Given the description of an element on the screen output the (x, y) to click on. 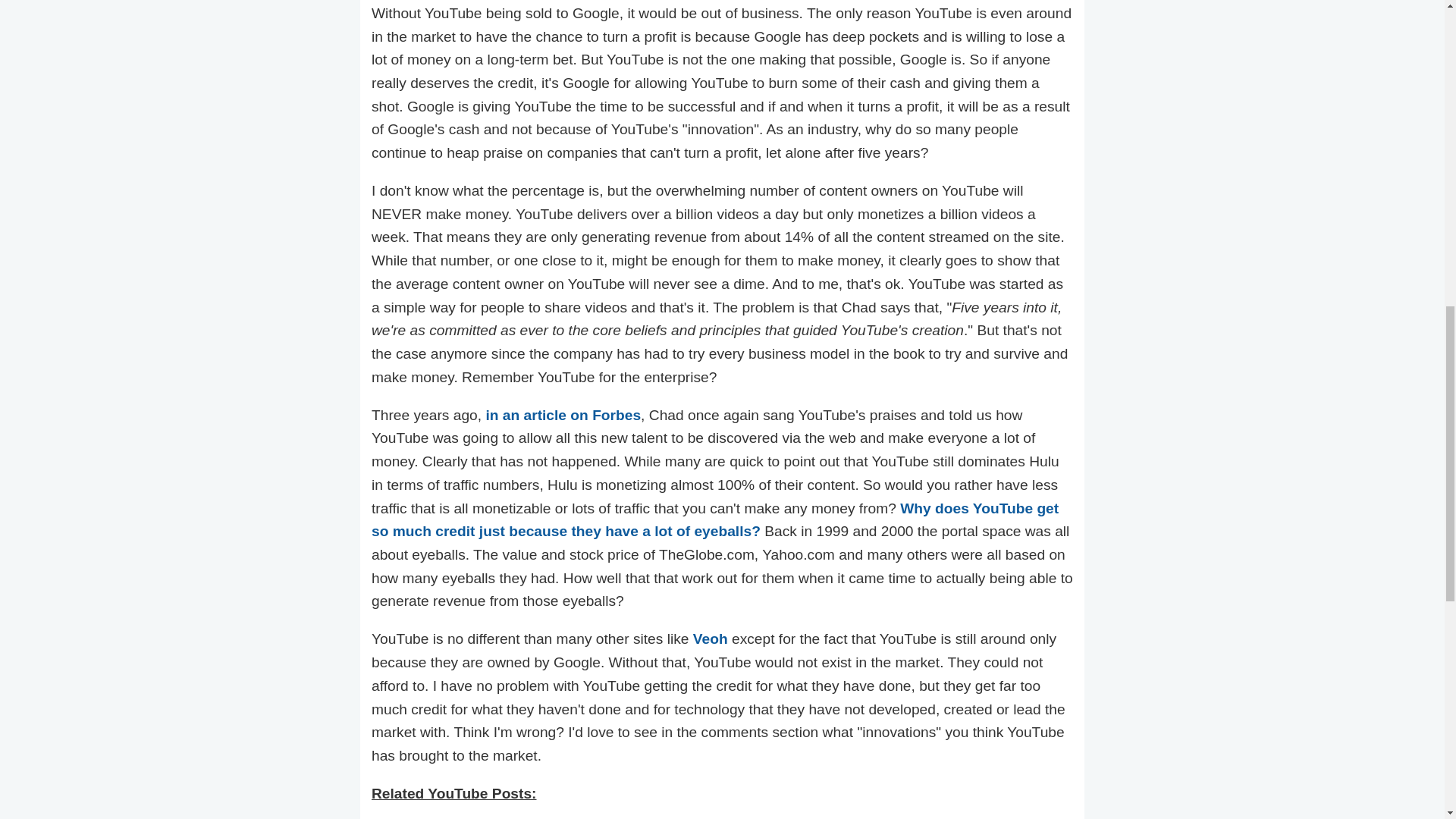
in an article on Forbes (562, 415)
Veoh (710, 638)
